Given the description of an element on the screen output the (x, y) to click on. 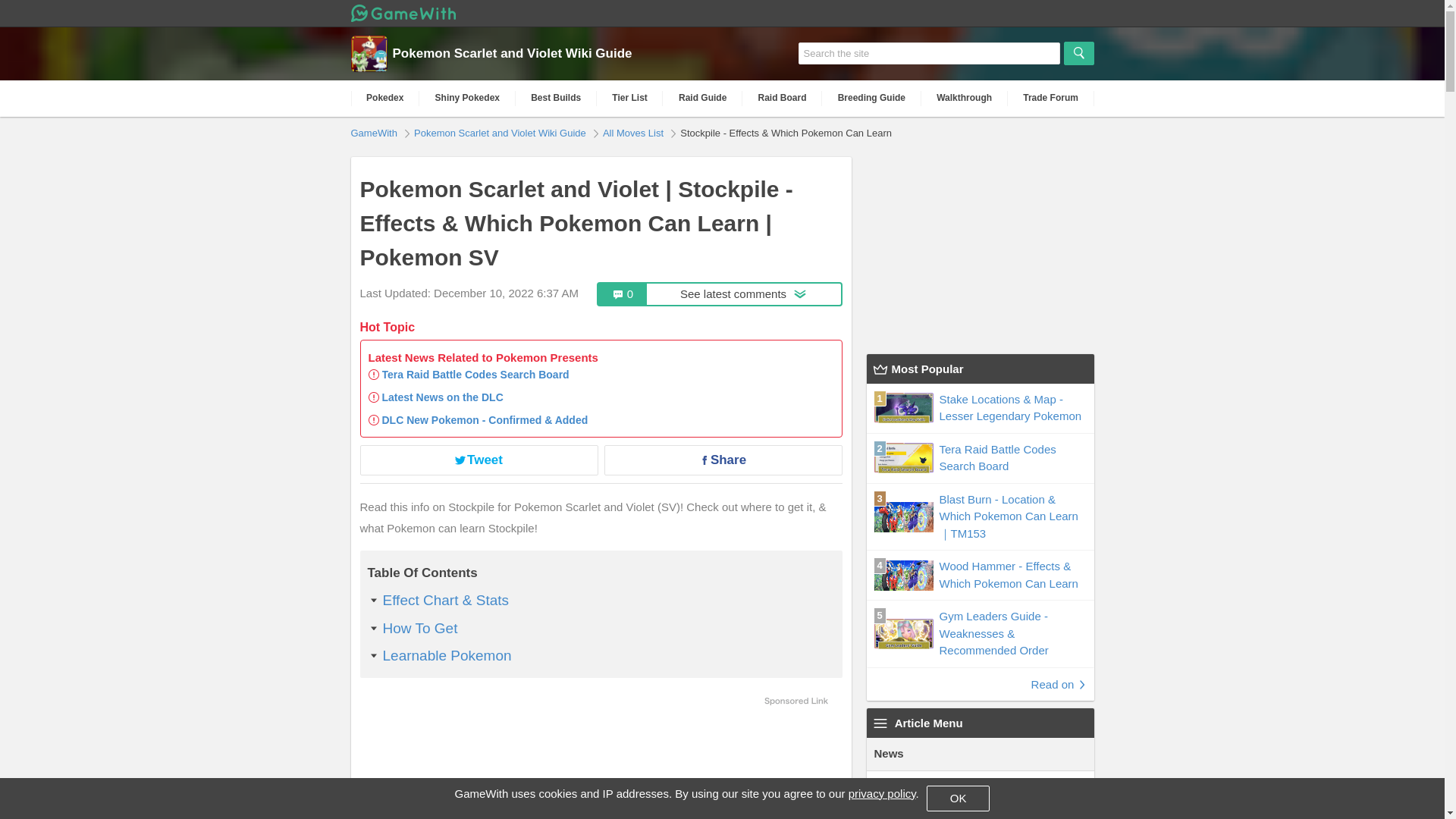
Tweet (477, 459)
Best Builds (555, 98)
Learnable Pokemon (446, 655)
Pokemon Scarlet and Violet Wiki Guide (501, 132)
Raid Board (782, 98)
Tera Raid Battle Codes Search Board (475, 374)
All Moves List (634, 132)
Trade Forum (1050, 98)
Share (722, 459)
GameWith (375, 132)
Walkthrough (964, 98)
How To Get (419, 627)
privacy policy (881, 793)
Pokedex (384, 98)
Breeding Guide (871, 98)
